Given the description of an element on the screen output the (x, y) to click on. 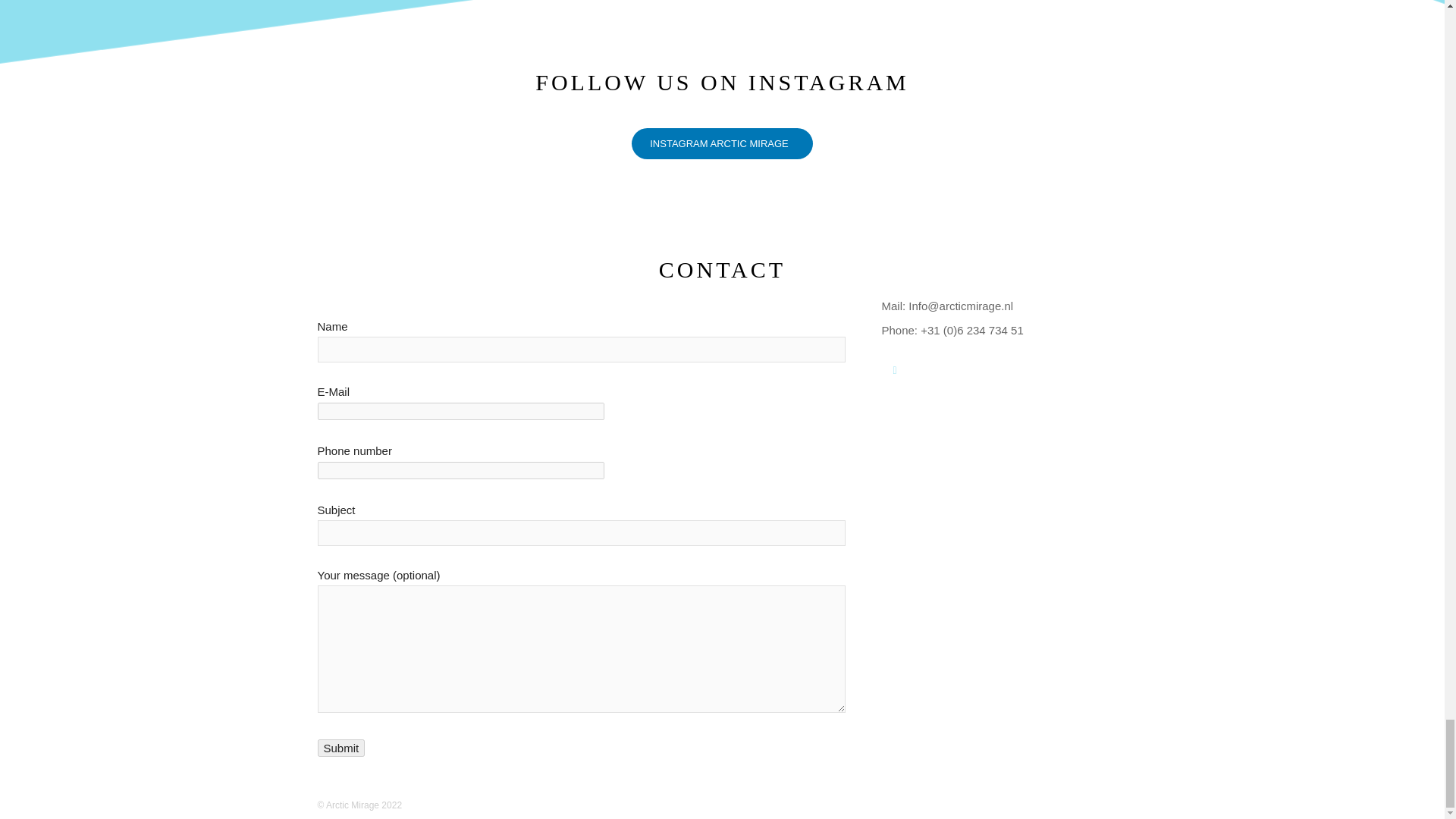
Submit (341, 747)
Facebook (928, 370)
Soundcloud (962, 370)
Wordpress (997, 370)
Instagram (893, 370)
